Given the description of an element on the screen output the (x, y) to click on. 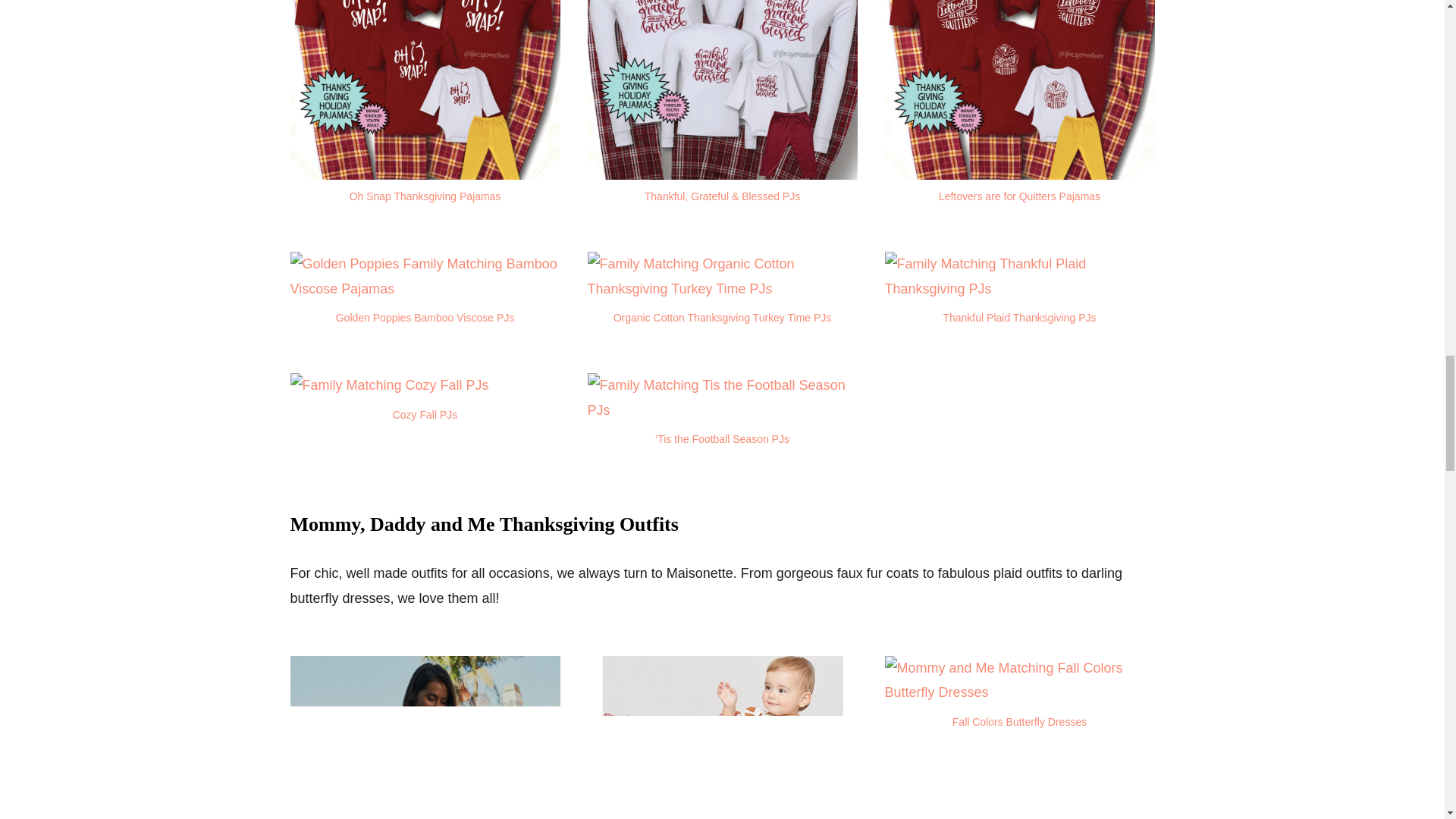
Oh Snap Family Matching Thanksgiving Pajamas (424, 89)
Family Matching Organic Cotton Thanksgiving Turkey Time PJs (721, 288)
